Given the description of an element on the screen output the (x, y) to click on. 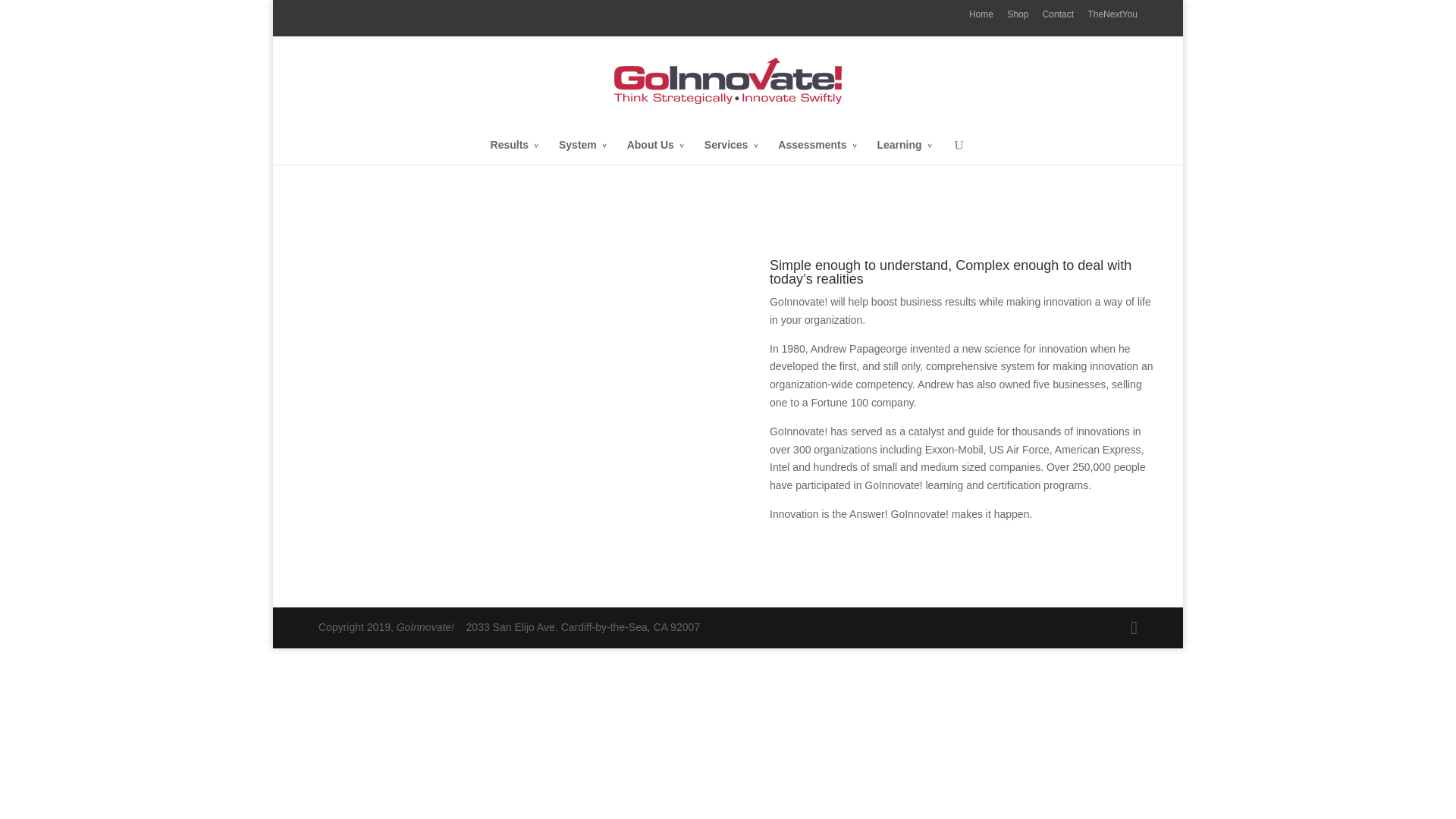
About Us (655, 150)
Results (515, 150)
Assessments (817, 150)
Home (980, 18)
TheNextYou (1112, 18)
Shop (1017, 18)
Learning (903, 150)
Contact (1058, 18)
Services (731, 150)
System (583, 150)
